Given the description of an element on the screen output the (x, y) to click on. 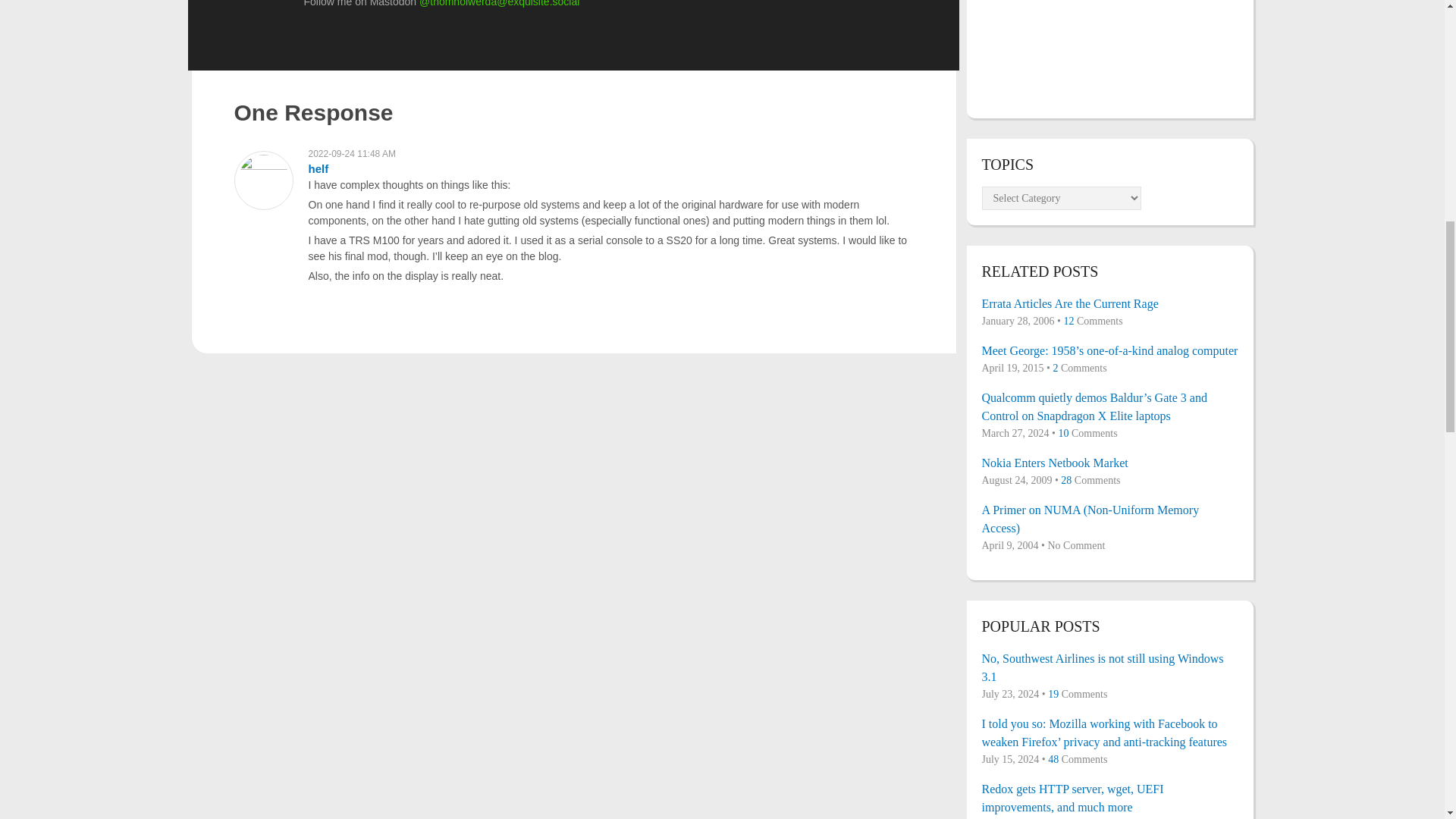
No, Southwest Airlines is not still using Windows 3.1 (1109, 668)
helf (318, 168)
Errata Articles Are the Current Rage (1109, 303)
Nokia Enters Netbook Market (1109, 463)
